Given the description of an element on the screen output the (x, y) to click on. 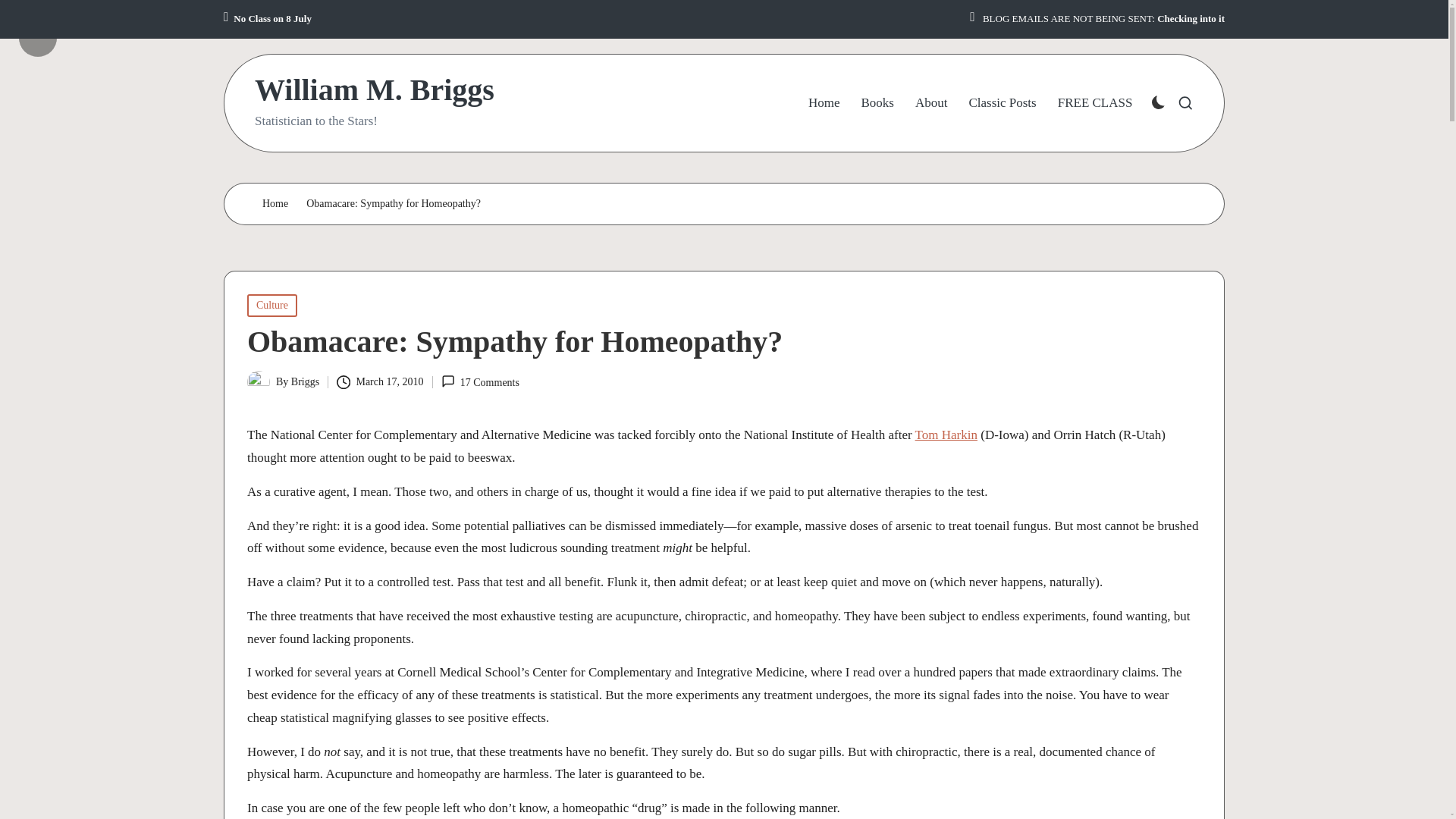
Checking into it (1190, 18)
Books (876, 103)
Home (275, 203)
Classic Posts (1001, 103)
William M. Briggs (374, 90)
Culture (272, 305)
The post author (56, 25)
View all posts by Briggs (304, 381)
FREE CLASS (1095, 103)
17 Comments (480, 381)
Home (824, 103)
Briggs (304, 381)
About (931, 103)
Tom Harkin (945, 434)
